Given the description of an element on the screen output the (x, y) to click on. 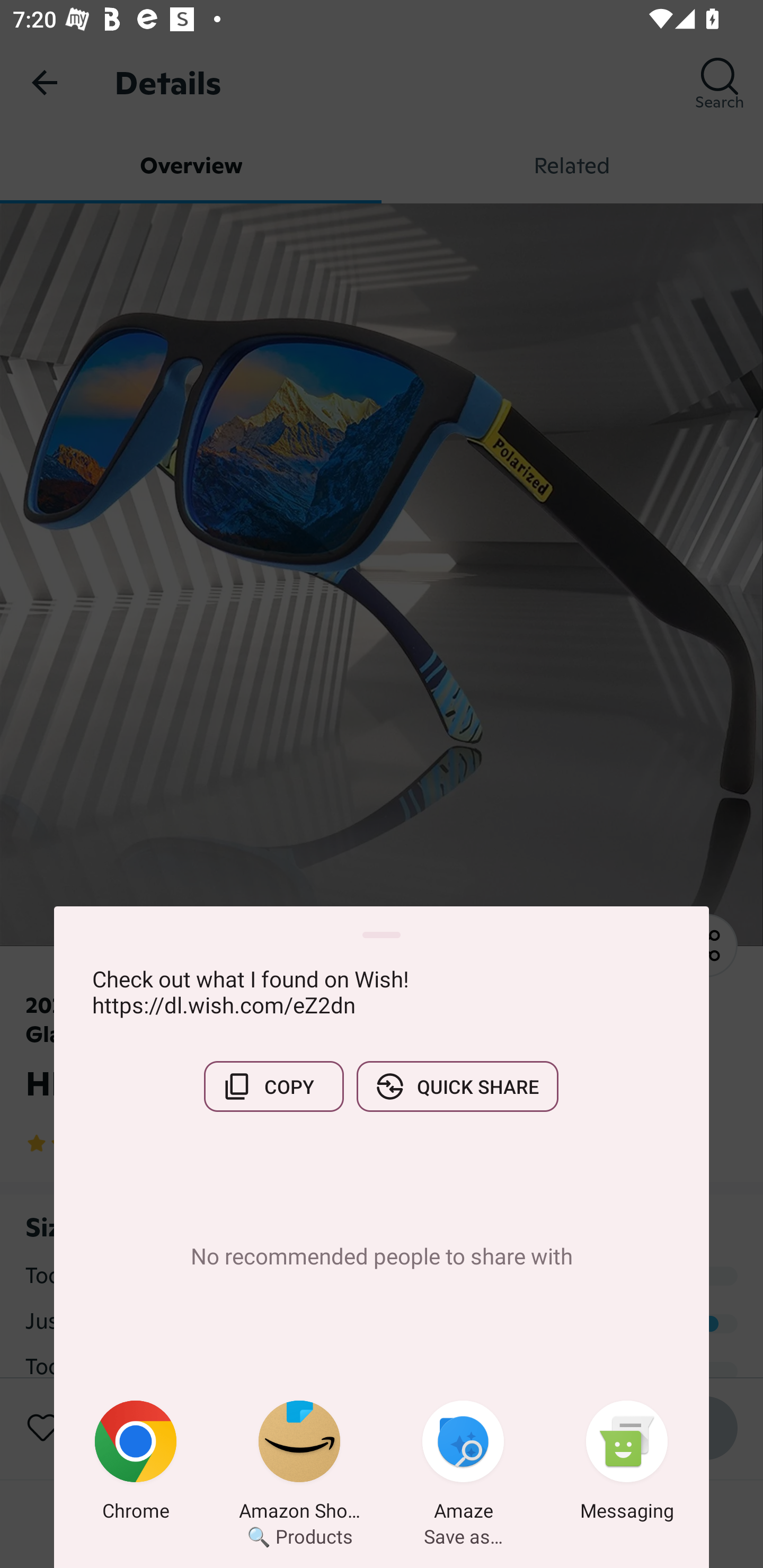
COPY (273, 1086)
QUICK SHARE (457, 1086)
Chrome (135, 1463)
Amazon Shopping 🔍 Products (299, 1463)
Amaze Save as… (463, 1463)
Messaging (626, 1463)
